Given the description of an element on the screen output the (x, y) to click on. 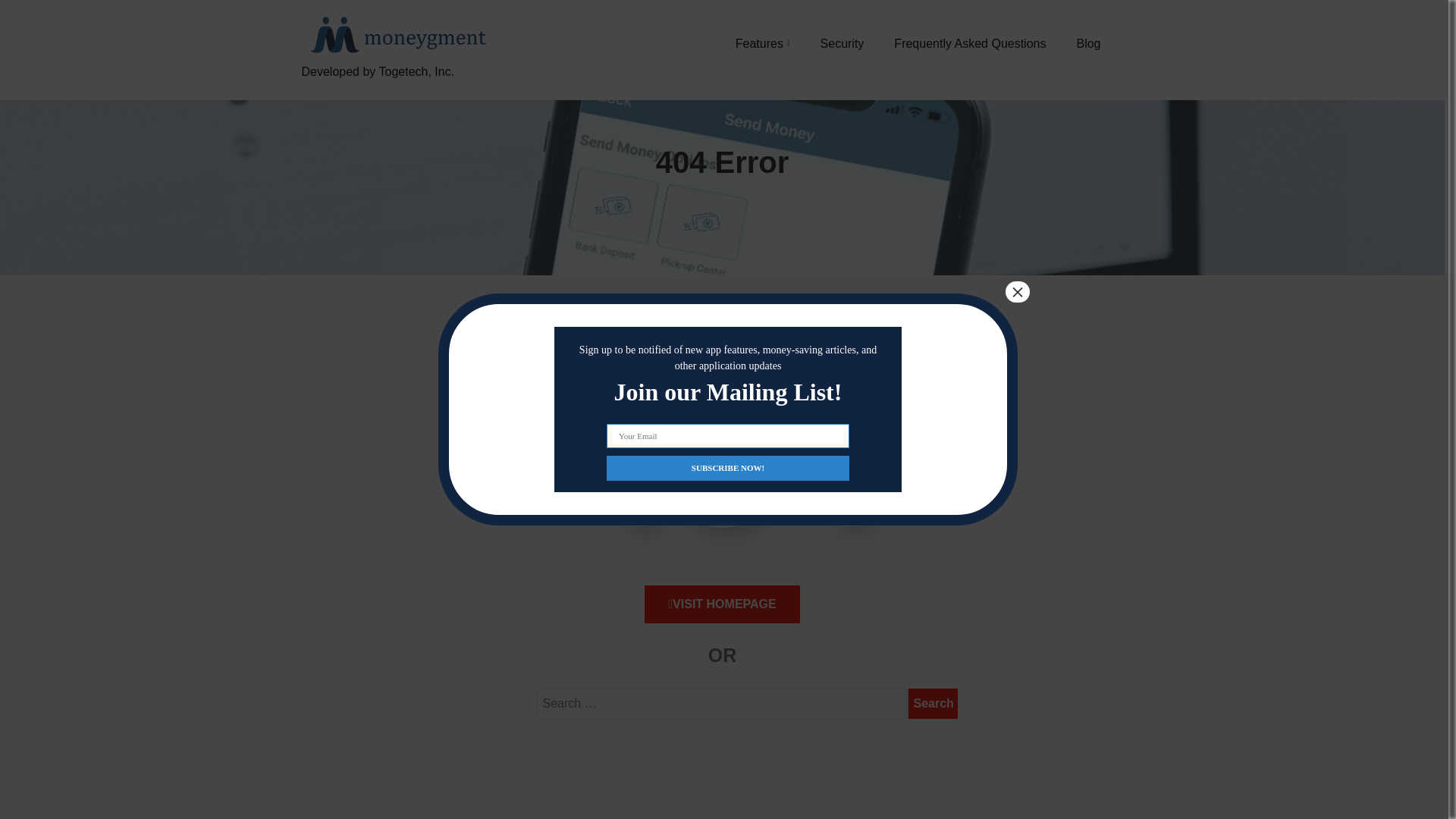
Frequently Asked Questions (969, 43)
VISIT HOMEPAGE (722, 604)
SUBSCRIBE NOW! (727, 467)
Search (933, 703)
Security (842, 43)
Features (762, 43)
SUBSCRIBE NOW! (727, 467)
Search (933, 703)
Developed by Togetech, Inc. (396, 89)
Search (933, 703)
